Given the description of an element on the screen output the (x, y) to click on. 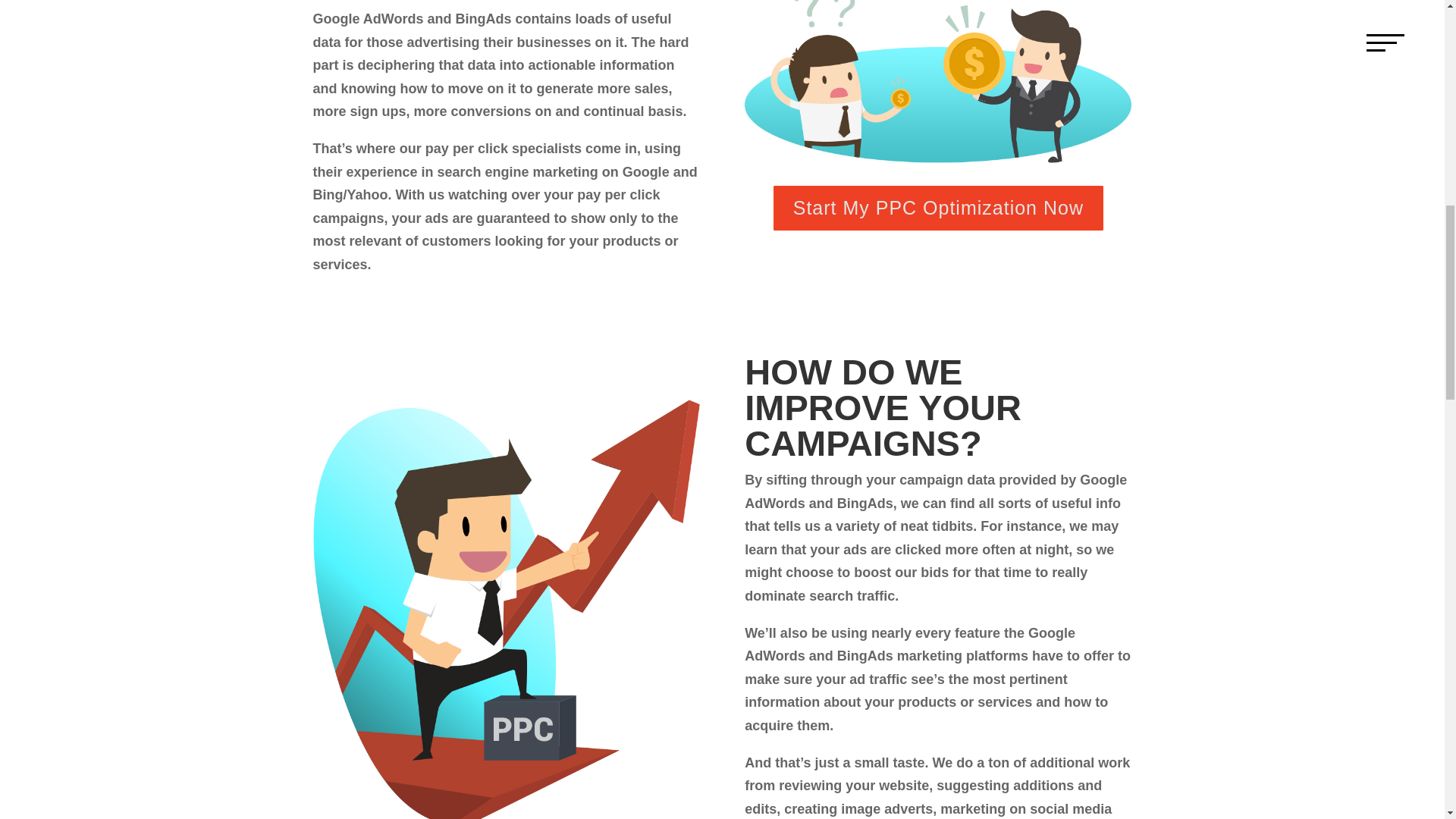
Start My PPC Optimization Now (938, 207)
